Given the description of an element on the screen output the (x, y) to click on. 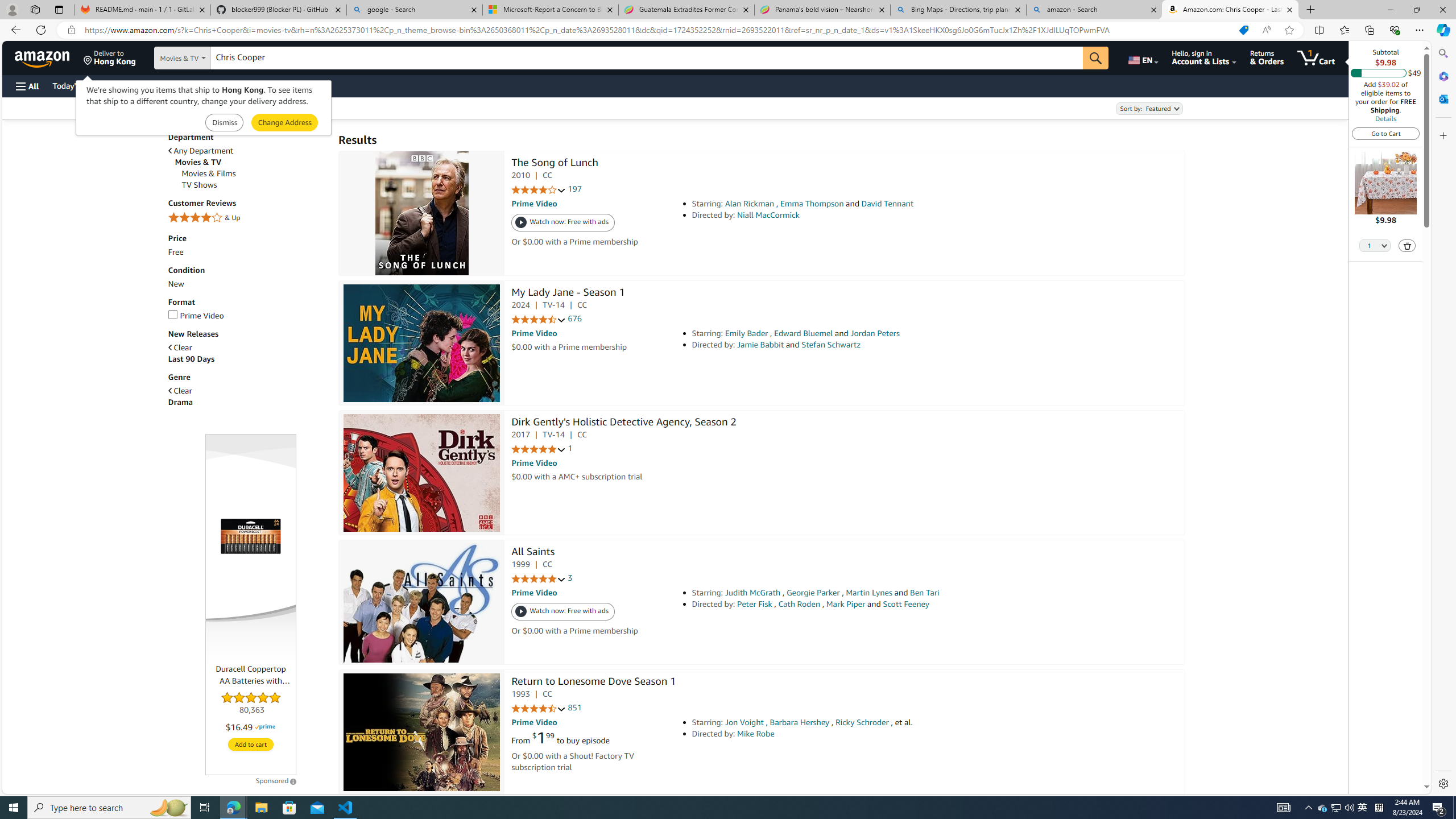
Clear (179, 390)
Jamie Babbit (760, 344)
Amazon.com: Chris Cooper - Last 90 Days / Drama: Movies & TV (1230, 9)
New (247, 284)
Last 90 Days (191, 358)
TV Shows (254, 185)
Movies & Films (208, 173)
5.0 out of 5 stars (538, 579)
Drama (247, 402)
Directed by: Mike Robe (850, 733)
